Given the description of an element on the screen output the (x, y) to click on. 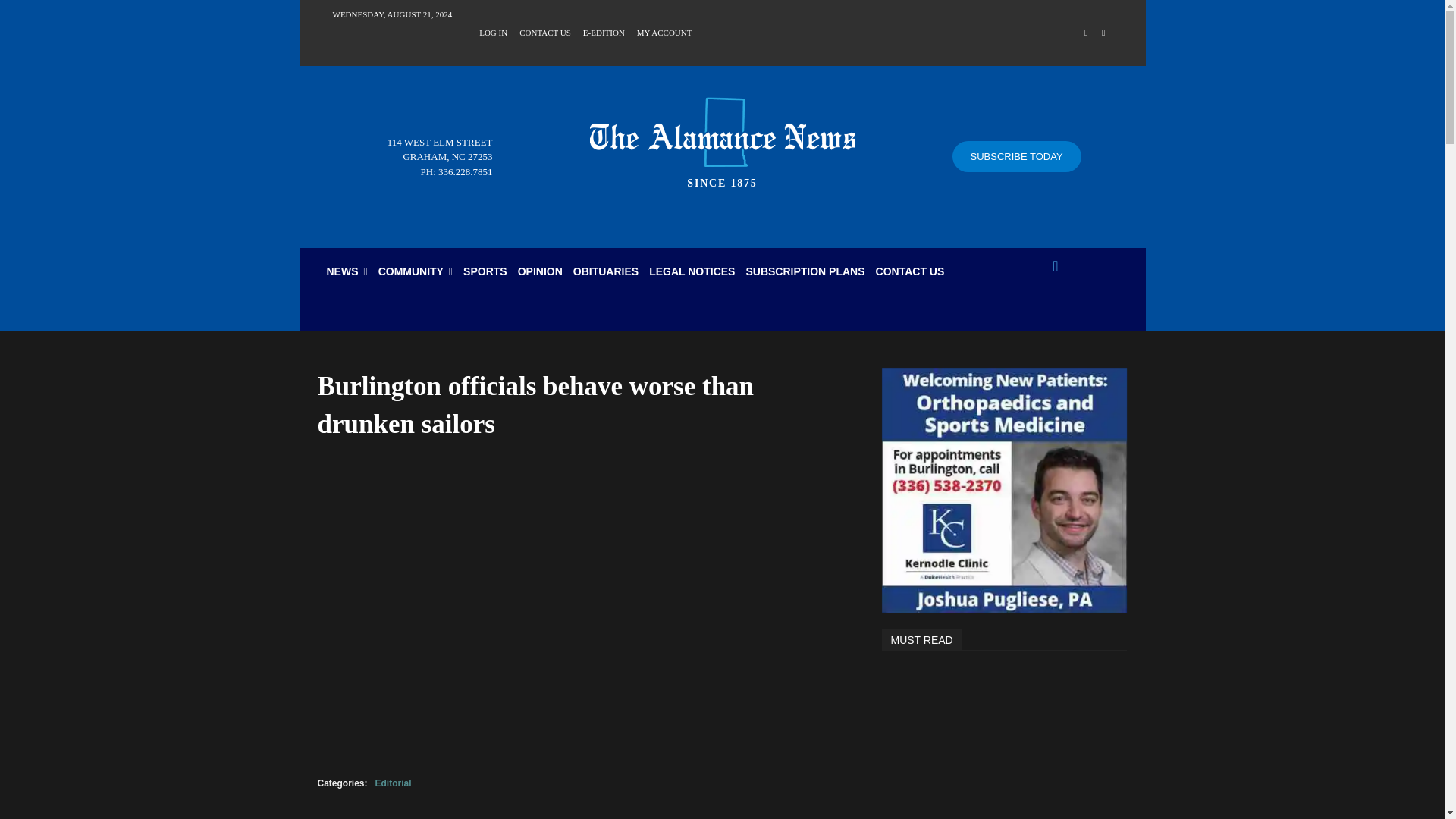
E-EDITION (603, 31)
SUBSCRIBE TODAY (1016, 155)
NEWS (346, 271)
LOG IN (492, 31)
The Alamance News Logo (722, 138)
CONTACT US (544, 31)
Facebook (1085, 32)
COMMUNITY (415, 271)
Twitter (1103, 32)
SUBSCRIBE TODAY (1016, 155)
